Given the description of an element on the screen output the (x, y) to click on. 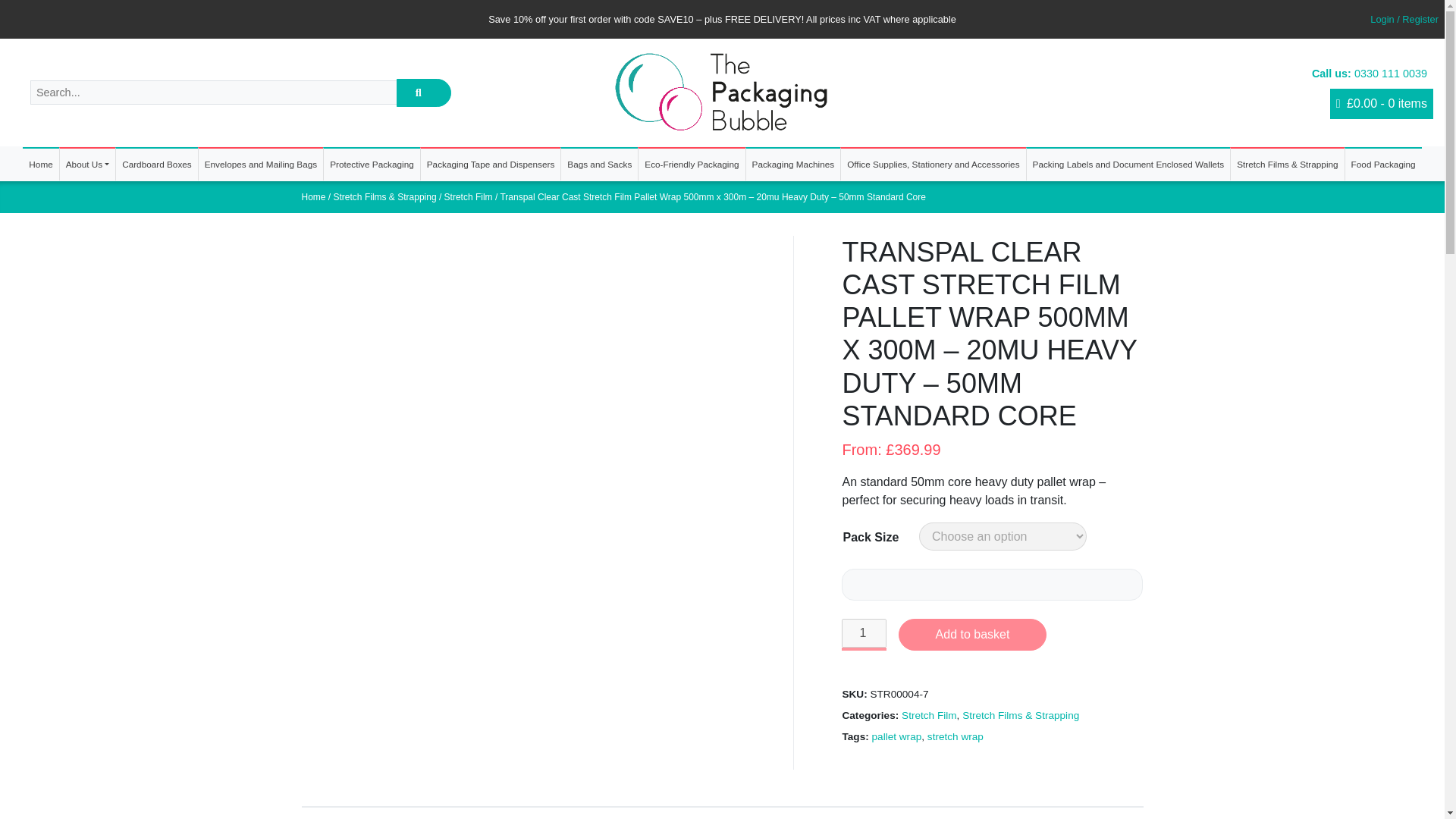
View your basket (1381, 103)
Cardboard Boxes (157, 164)
Envelopes and Mailing Bags (260, 164)
Call us: 0330 111 0039 (1203, 74)
Packaging Machines (793, 164)
Packaging Tape and Dispensers (490, 164)
Eco-Friendly Packaging (691, 164)
Home (40, 164)
1 (863, 633)
About Us (87, 164)
Stretch Film (928, 715)
Home (313, 196)
Packaging Tape and Dispensers (490, 164)
stretch wrap (955, 736)
Cardboard Boxes (157, 164)
